Given the description of an element on the screen output the (x, y) to click on. 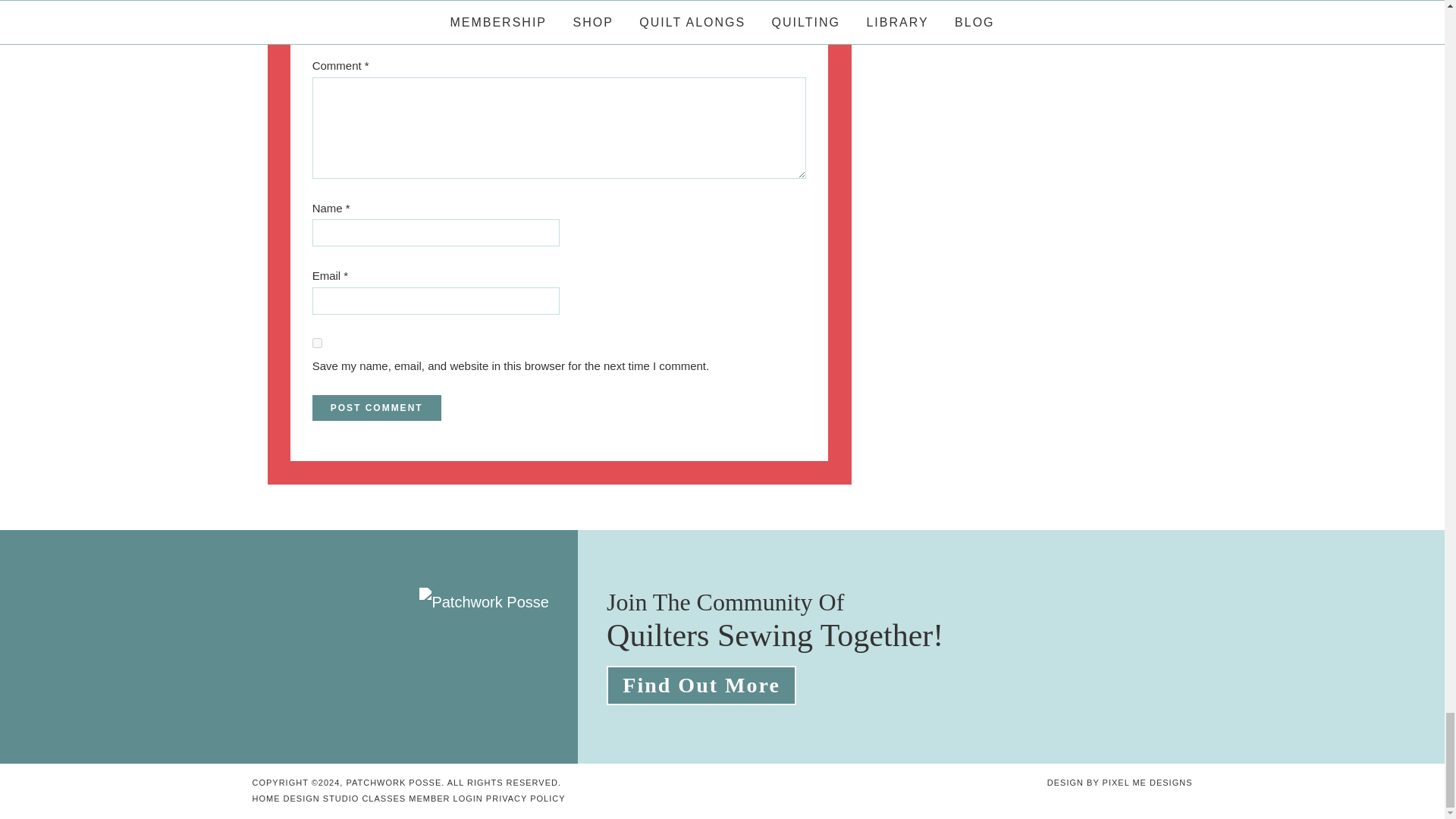
yes (317, 343)
Post Comment (377, 407)
